Given the description of an element on the screen output the (x, y) to click on. 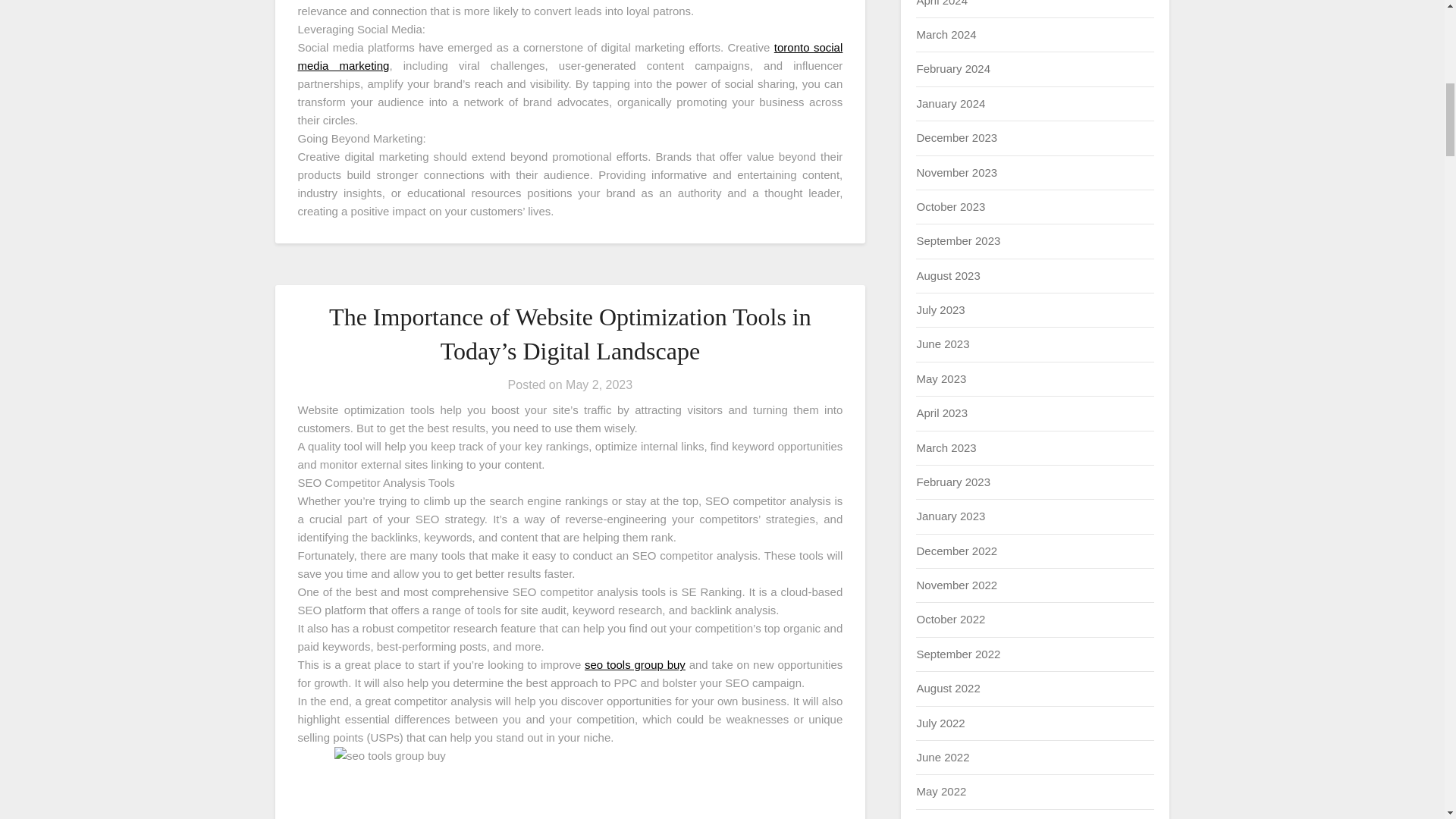
May 2, 2023 (598, 384)
seo tools group buy (635, 664)
toronto social media marketing (570, 56)
